Given the description of an element on the screen output the (x, y) to click on. 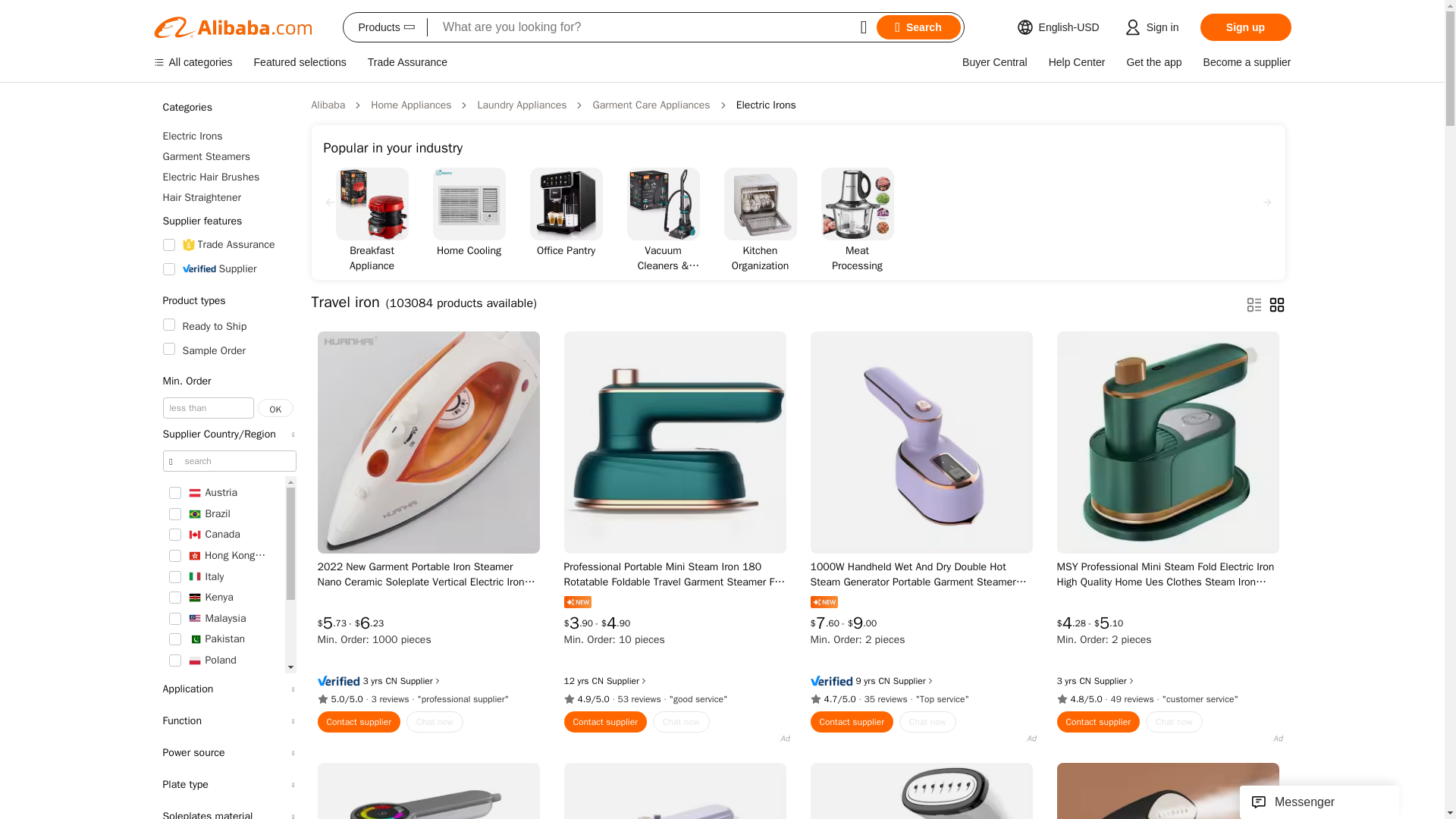
Electric Hair Brushes (228, 176)
Electric Irons (228, 135)
Categories (228, 107)
Garment Steamers (228, 156)
